Given the description of an element on the screen output the (x, y) to click on. 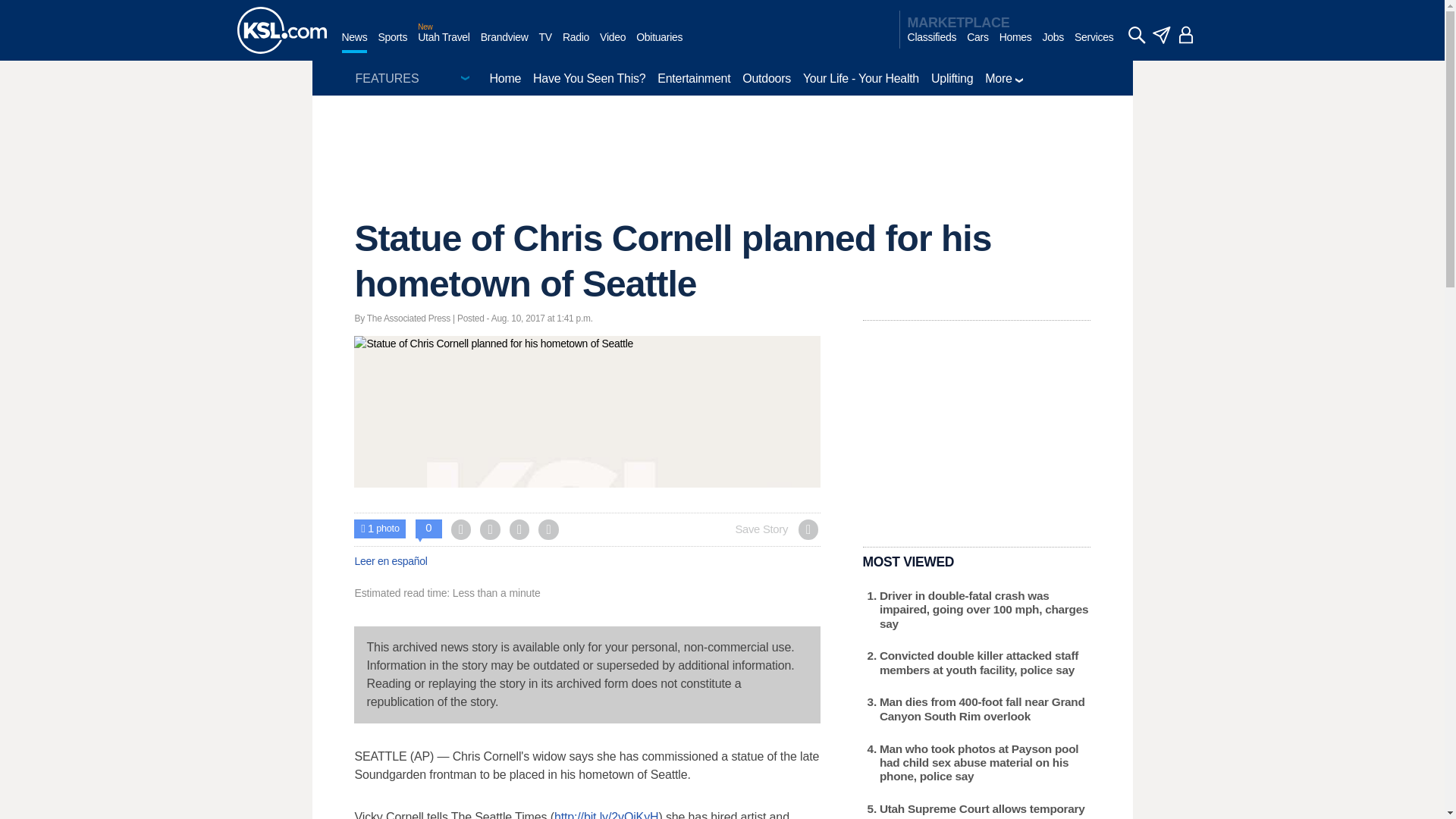
KSL homepage (280, 29)
search (1135, 34)
account - logged out (1185, 34)
